Given the description of an element on the screen output the (x, y) to click on. 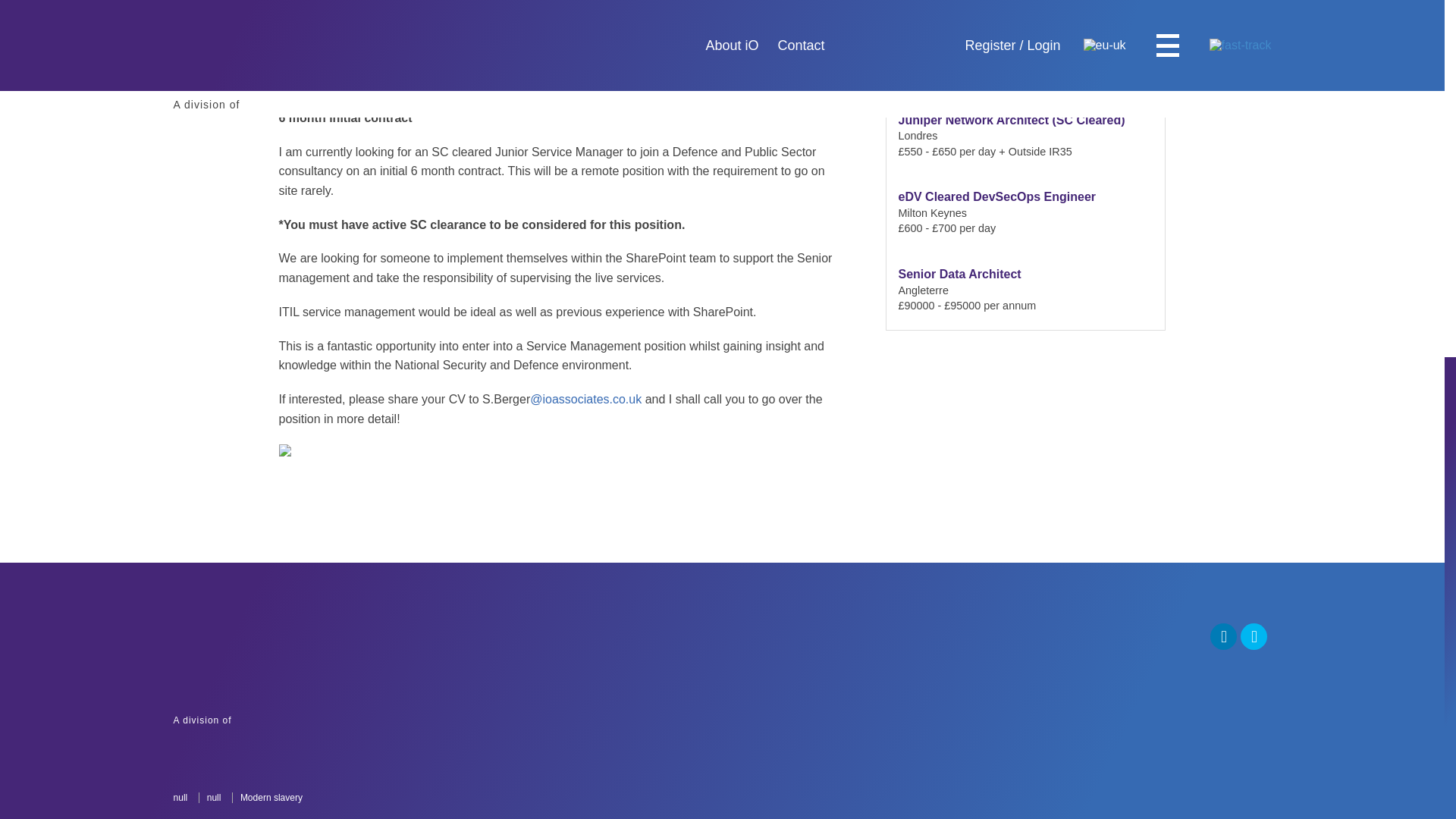
LinkedIn (1048, 16)
null (213, 797)
Facebook (989, 16)
mailto: (585, 399)
Email (283, 719)
Modern slavery (1108, 16)
